Given the description of an element on the screen output the (x, y) to click on. 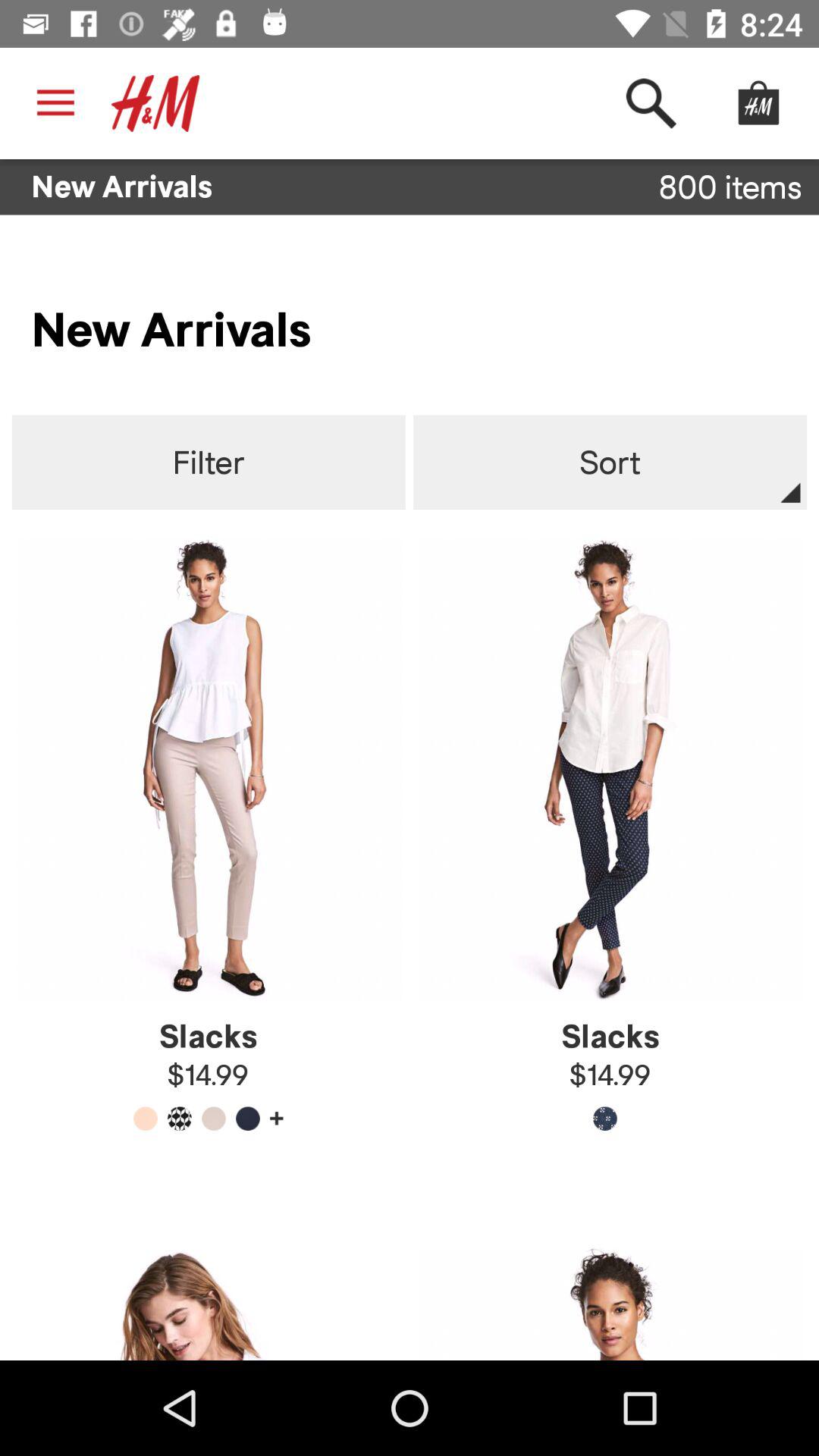
turn on the item to the left of the sort icon (208, 462)
